Given the description of an element on the screen output the (x, y) to click on. 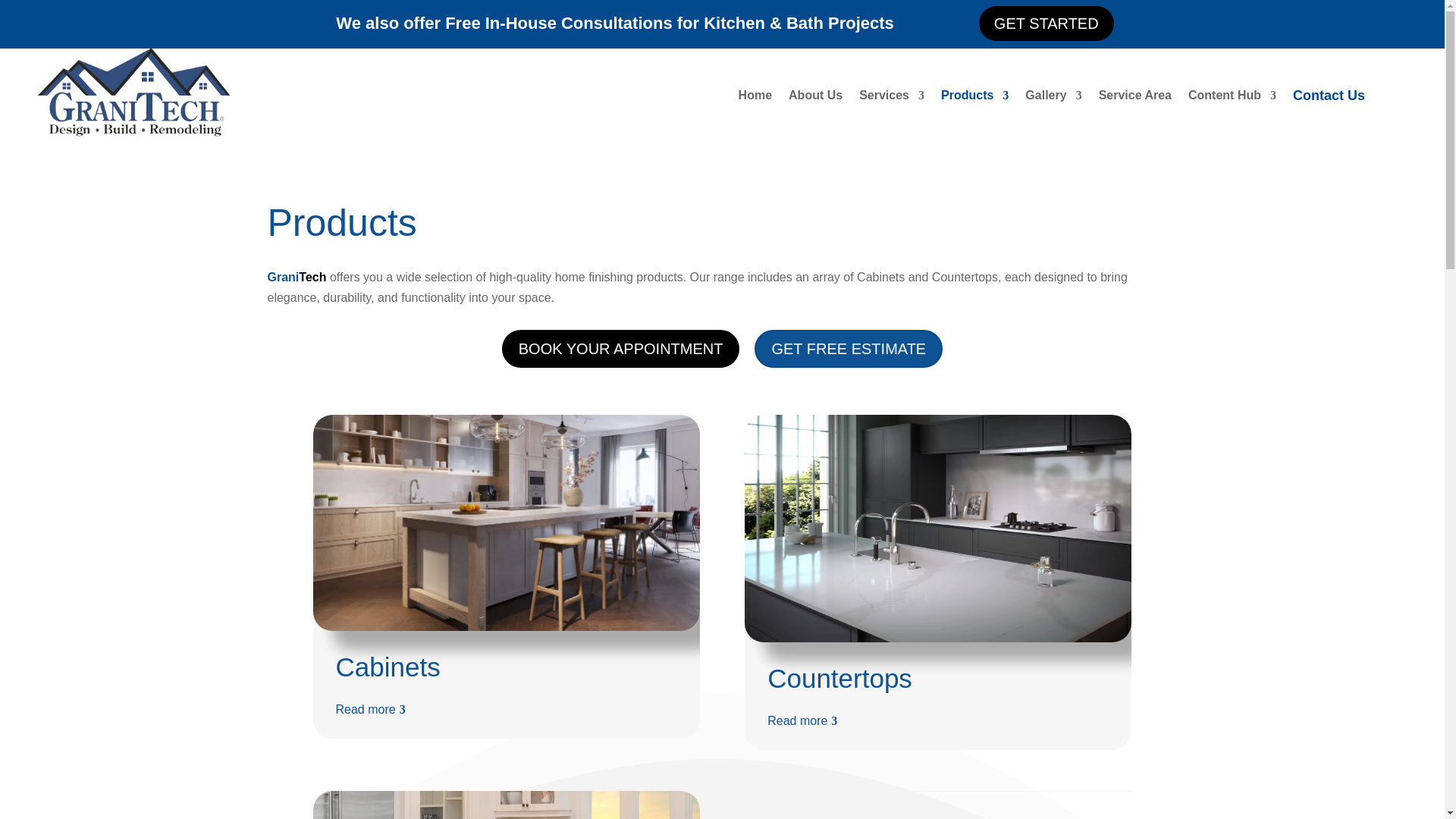
silestone-kitchen-europea-classic-calatta (937, 528)
allorausa-kitchen (505, 805)
GET STARTED (1045, 22)
